Given the description of an element on the screen output the (x, y) to click on. 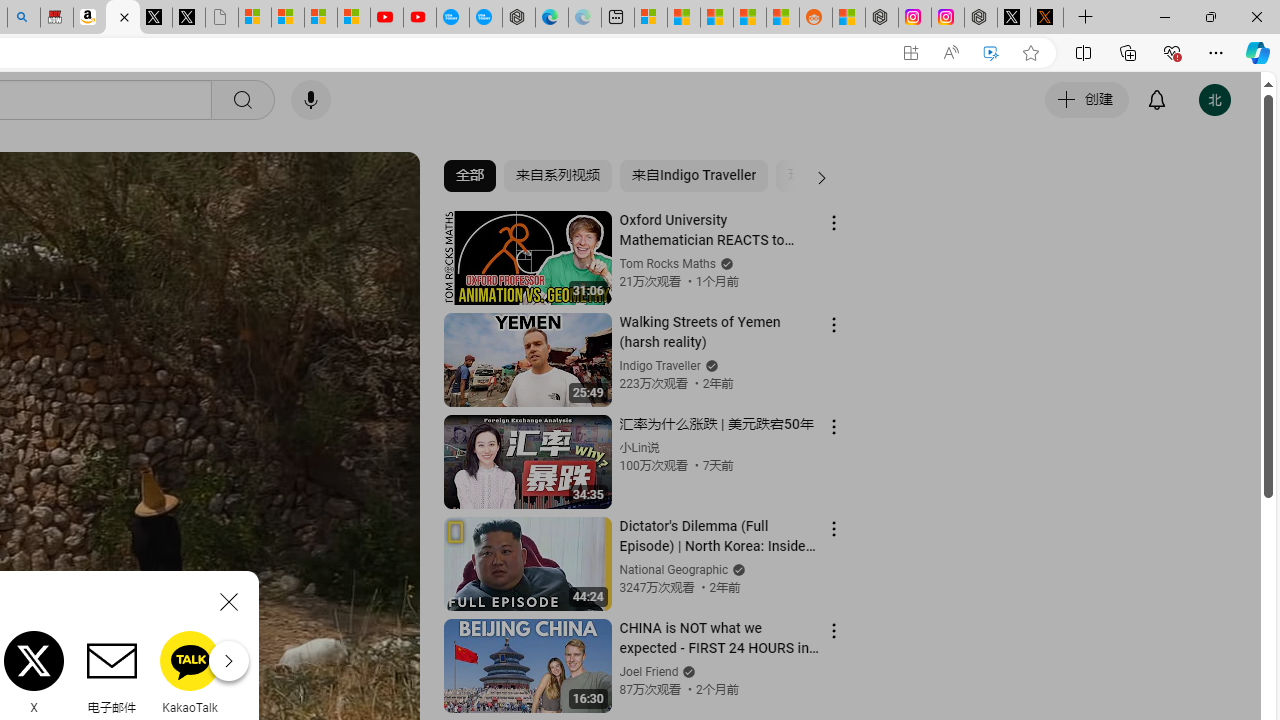
Untitled (222, 17)
Shanghai, China hourly forecast | Microsoft Weather (717, 17)
